Given the description of an element on the screen output the (x, y) to click on. 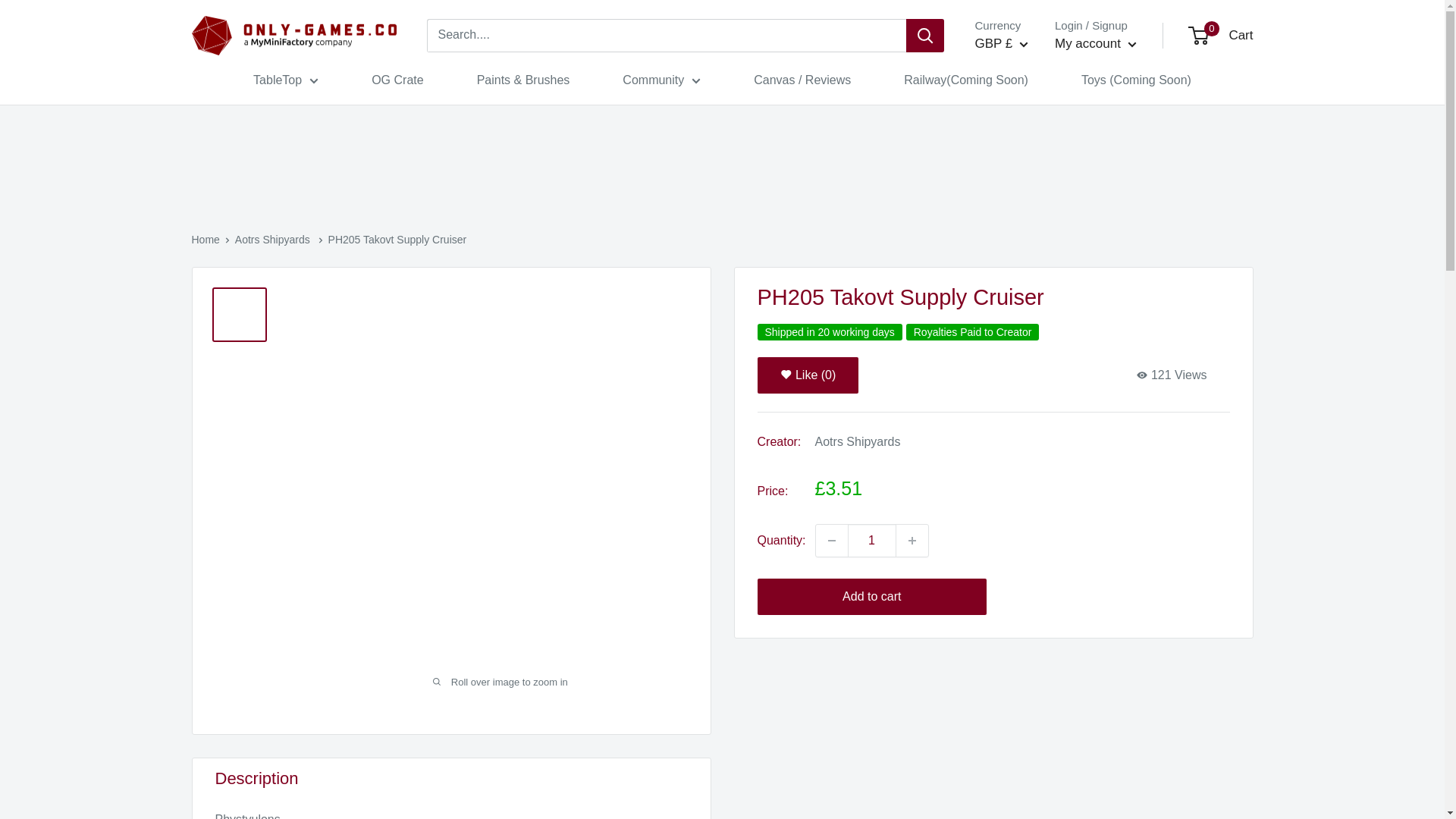
1 (871, 540)
My account (1095, 43)
GBP (1016, 158)
Decrease quantity by 1 (831, 540)
USD (1016, 181)
Increase quantity by 1 (912, 540)
EUR (1016, 135)
Only-Games (293, 35)
AUD (1016, 88)
DKK (1016, 112)
